Given the description of an element on the screen output the (x, y) to click on. 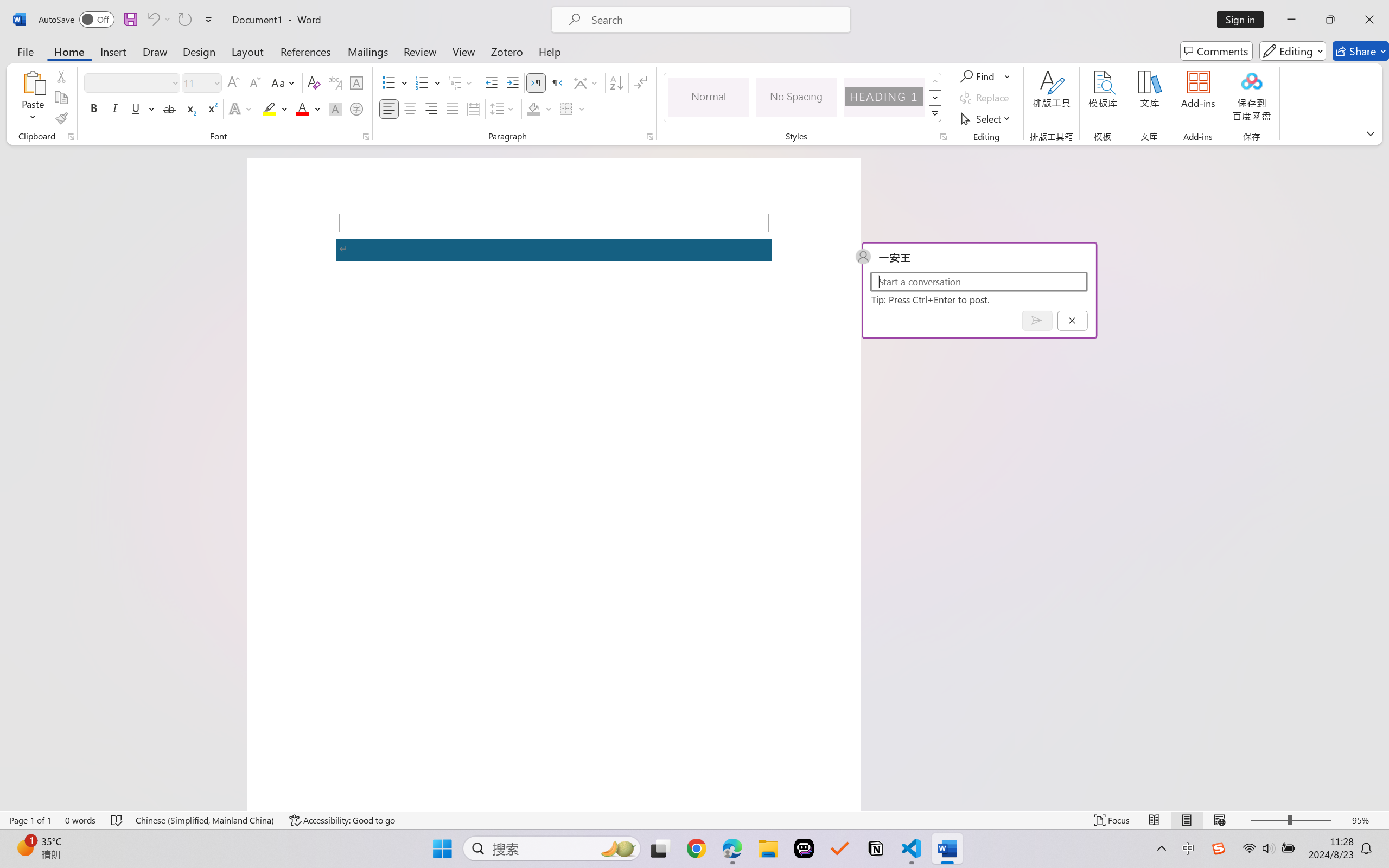
Left-to-Right (535, 82)
Undo Apply Quick Style Set (152, 19)
Repeat TCSCTranslate (184, 19)
